Given the description of an element on the screen output the (x, y) to click on. 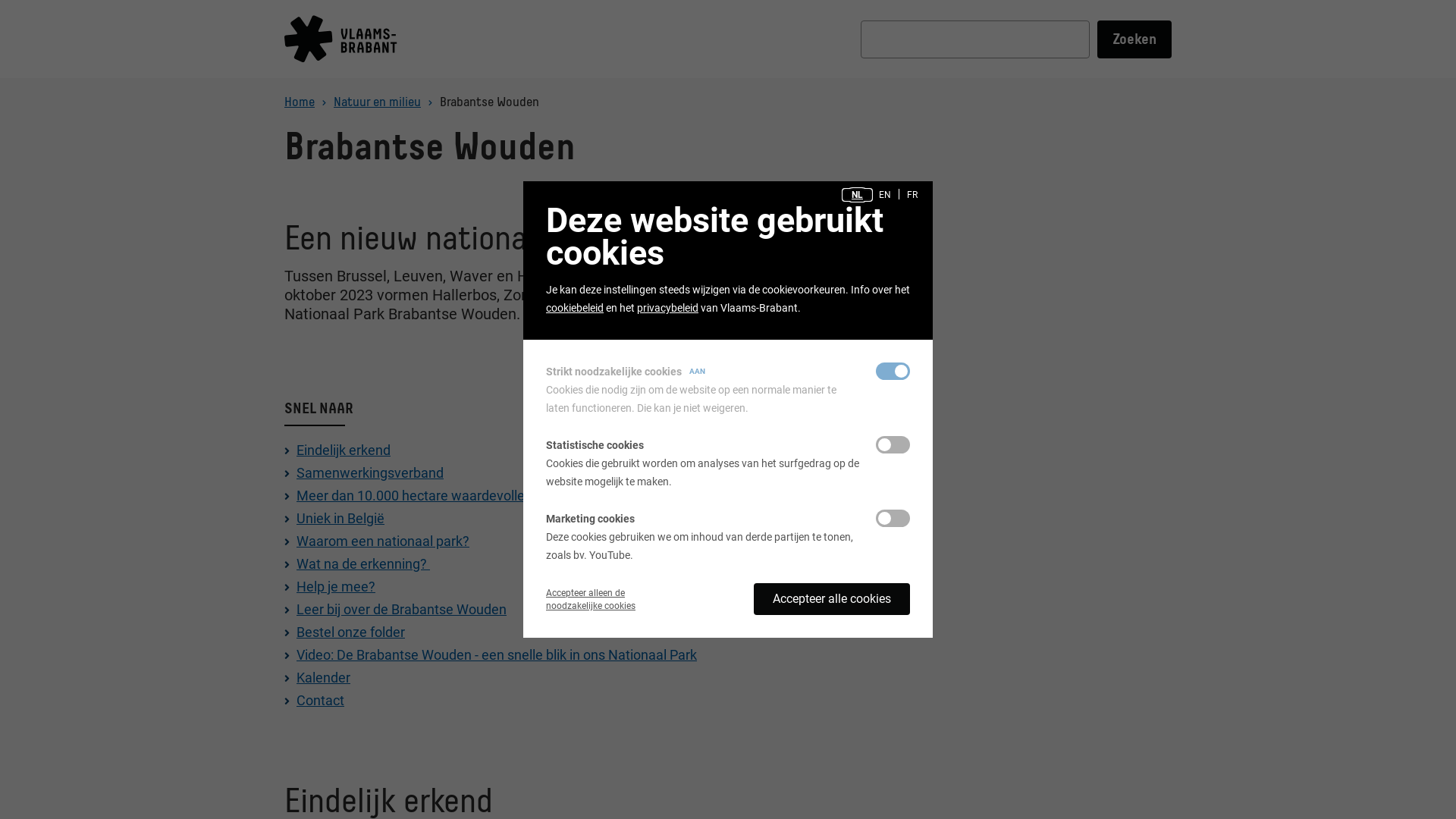
EN Element type: text (884, 194)
Kalender Element type: text (323, 677)
Eindelijk erkend Element type: text (343, 450)
Waarom een nationaal park? Element type: text (382, 541)
cookiebeleid Element type: text (574, 307)
Zoeken Element type: text (1134, 38)
Help je mee? Element type: text (335, 586)
Accepteer alle cookies Element type: text (831, 599)
Leer bij over de Brabantse Wouden Element type: text (401, 609)
NL Element type: text (857, 194)
Natuur en milieu Element type: text (376, 102)
FR Element type: text (912, 194)
Bestel onze folder Element type: text (350, 632)
Contact Element type: text (320, 700)
Wat na de erkenning?  Element type: text (362, 563)
Meer dan 10.000 hectare waardevolle natuur Element type: text (431, 495)
Samenwerkingsverband Element type: text (369, 472)
Home Element type: text (299, 102)
privacybeleid Element type: text (667, 307)
Accepteer alleen de noodzakelijke cookies Element type: text (590, 599)
